Given the description of an element on the screen output the (x, y) to click on. 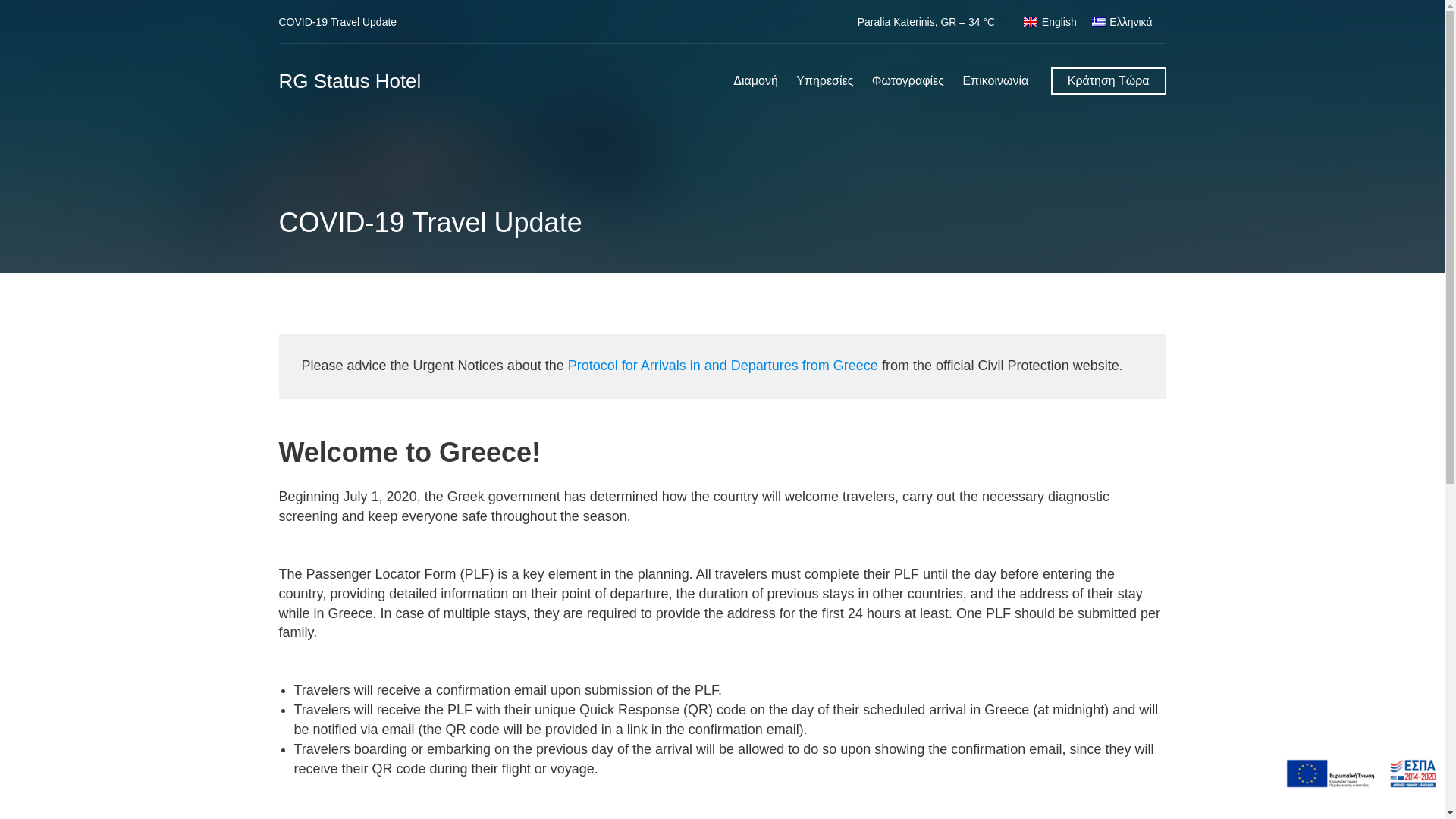
RG Status Hotel (350, 80)
COVID-19 Travel Update (338, 21)
English (1050, 21)
Protocol for Arrivals in and Departures from Greece (722, 365)
